Given the description of an element on the screen output the (x, y) to click on. 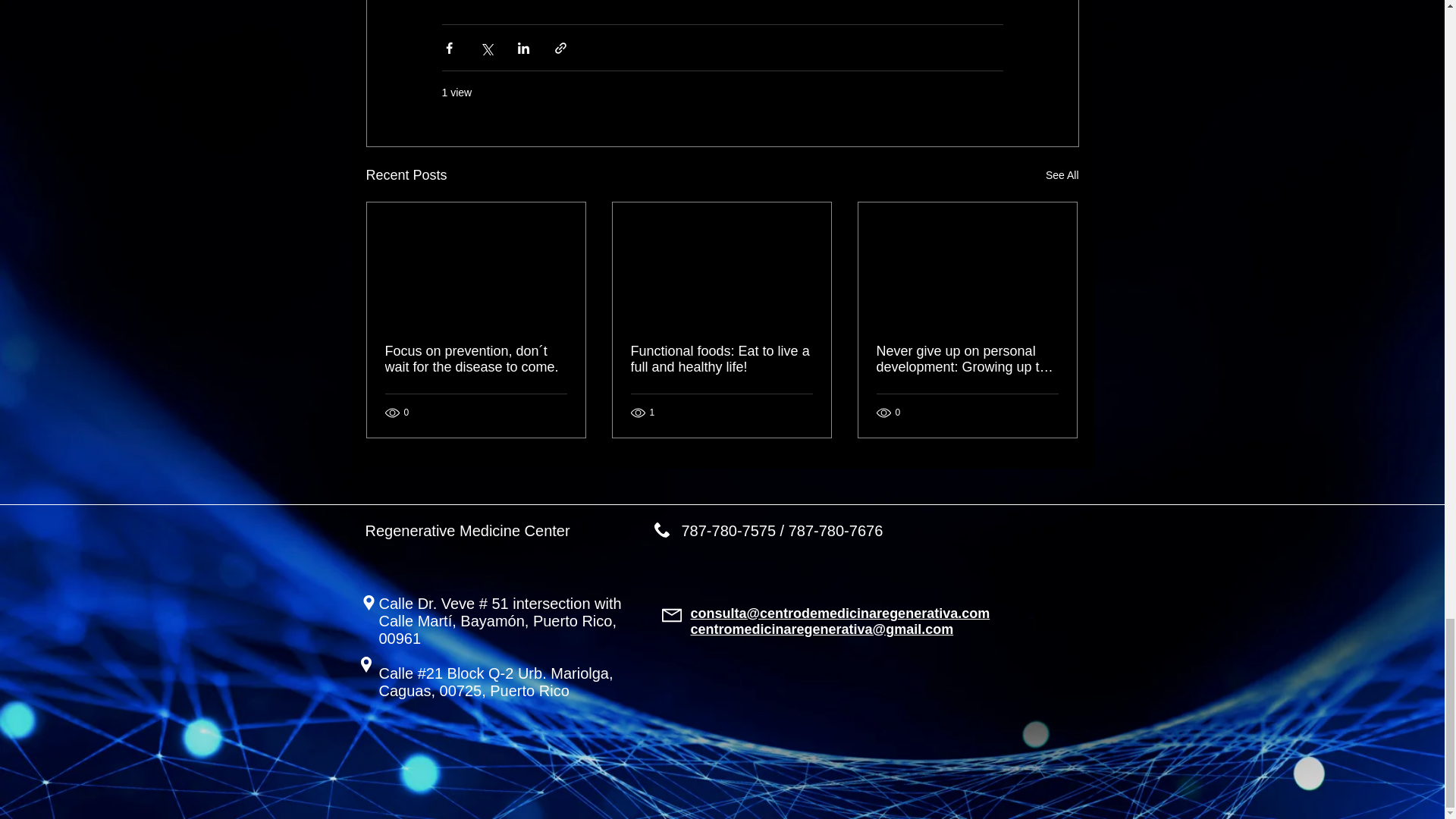
Functional foods: Eat to live a full and healthy life! (721, 359)
See All (1061, 175)
